Given the description of an element on the screen output the (x, y) to click on. 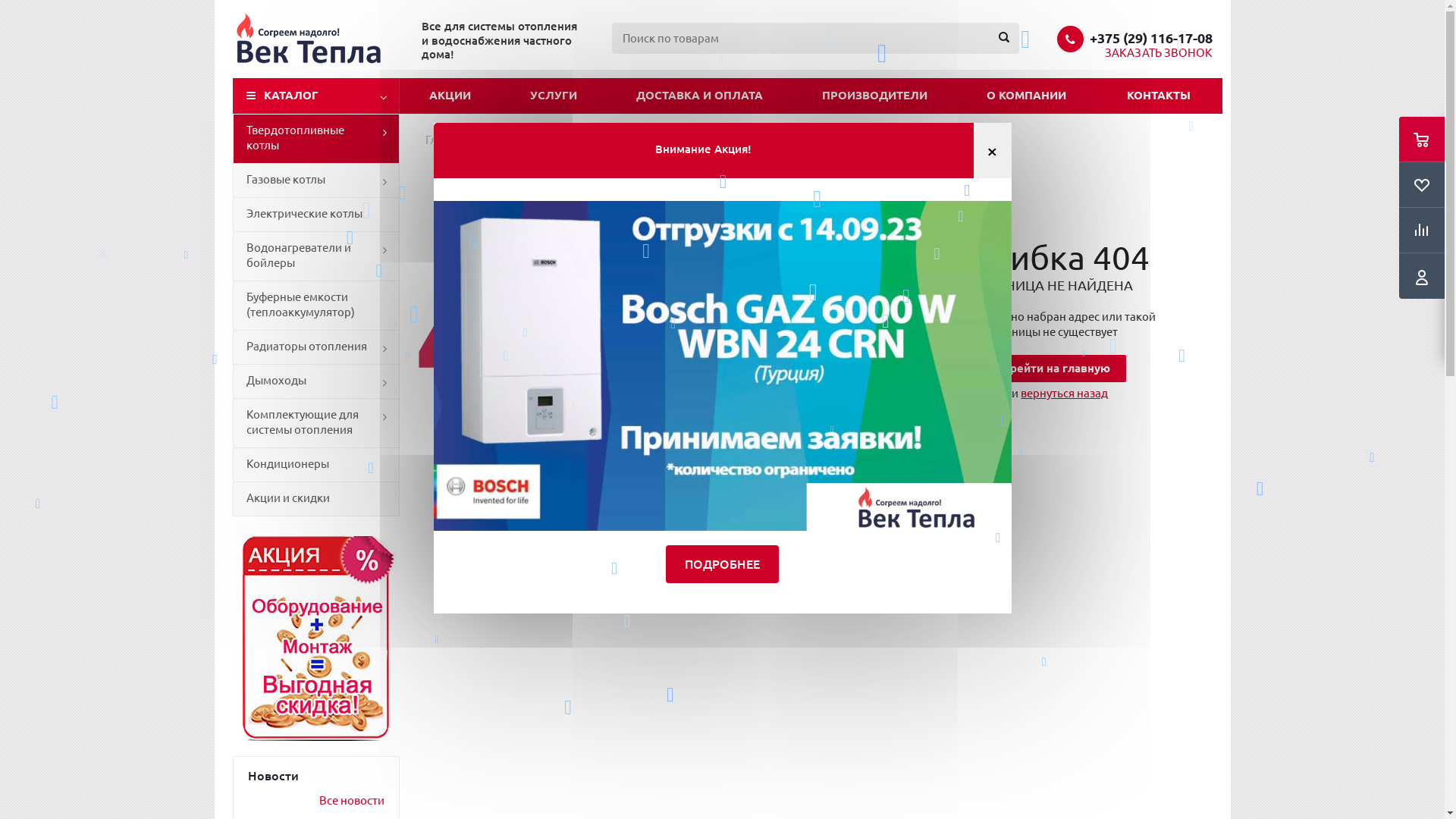
+375 (29) 116-17-08 Element type: text (1149, 37)
:-( Element type: hover (636, 322)
